Given the description of an element on the screen output the (x, y) to click on. 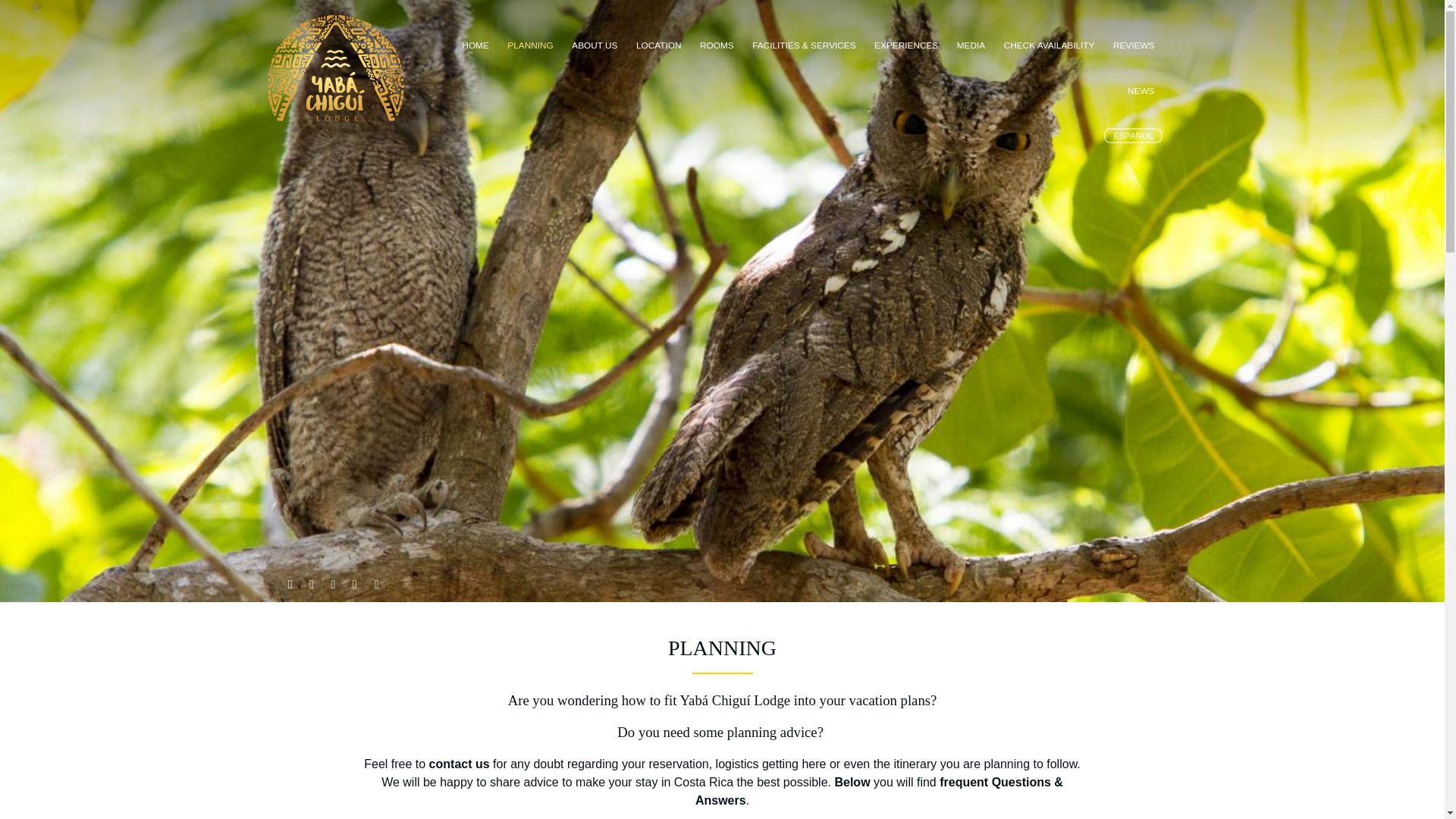
MEDIA (970, 44)
EXPERIENCES (905, 44)
REVIEWS (1133, 44)
Contact (375, 584)
HOME (475, 44)
NEWS (1140, 90)
Media (970, 44)
About Us (594, 44)
PLANNING (529, 44)
CHECK AVAILABILITY (1048, 44)
Instagram (333, 584)
Rooms (717, 44)
Trip Advisor (355, 584)
Facebook (311, 584)
